Given the description of an element on the screen output the (x, y) to click on. 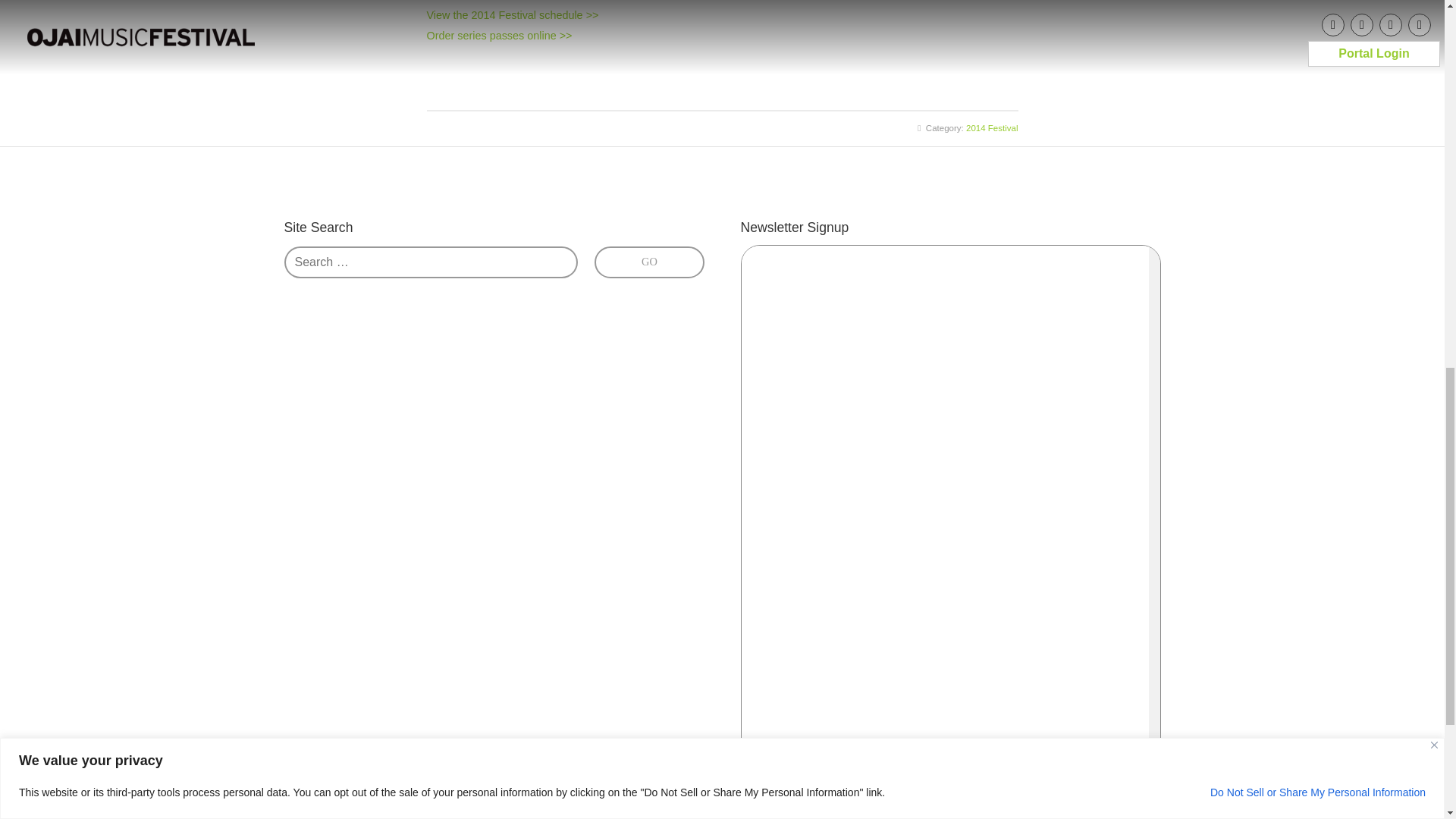
Go (648, 262)
2014 Festival Schedule (512, 15)
